Given the description of an element on the screen output the (x, y) to click on. 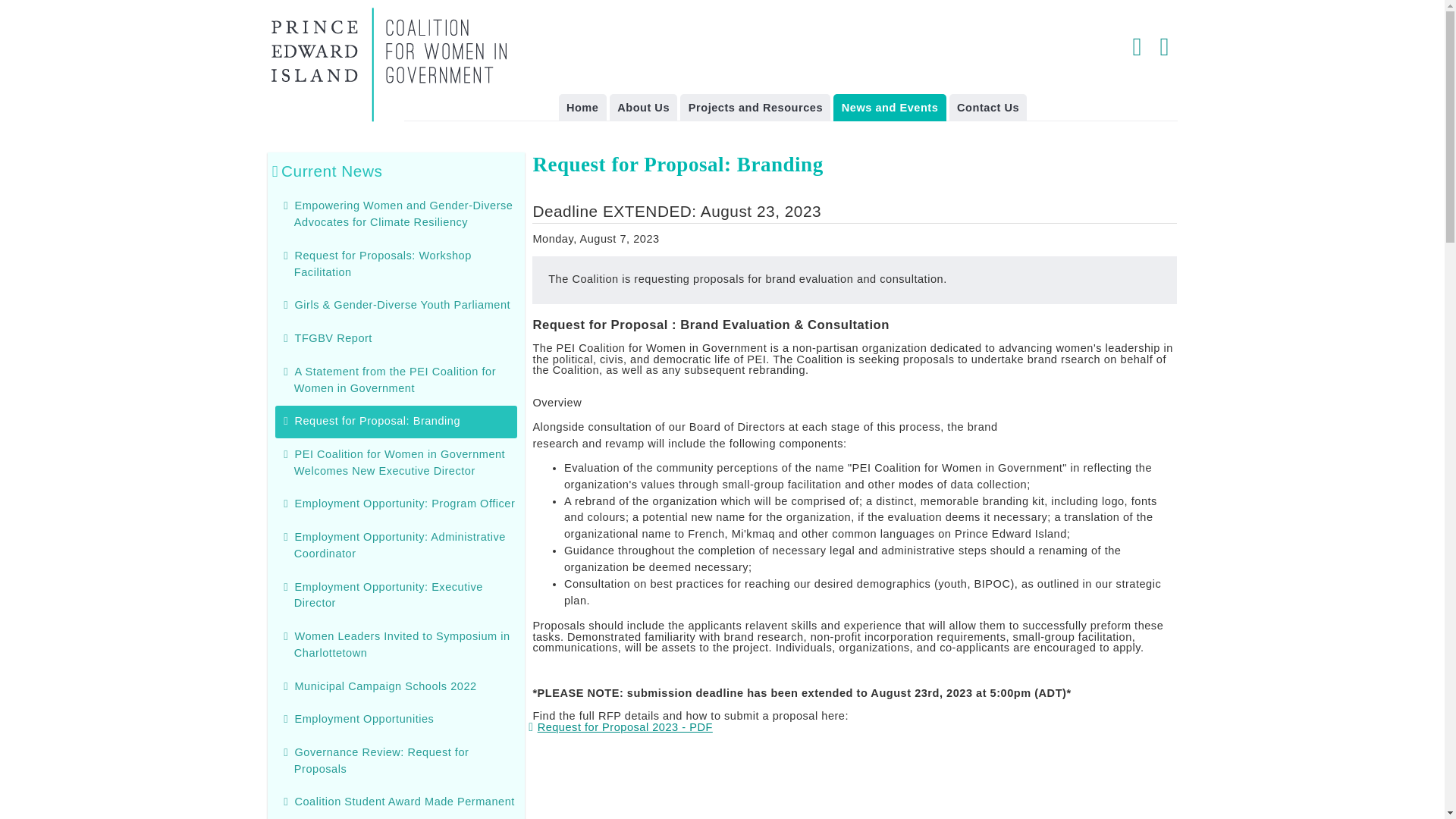
Request for Proposal: Branding (405, 421)
A Statement from the PEI Coalition for Women in Government (395, 379)
Municipal Campaign Schools 2022 (385, 686)
Employment Opportunity: Administrative Coordinator (399, 544)
Projects and Resources (754, 107)
News and Events (888, 107)
Employment Opportunity: Executive Director (388, 594)
About Us (644, 107)
